Given the description of an element on the screen output the (x, y) to click on. 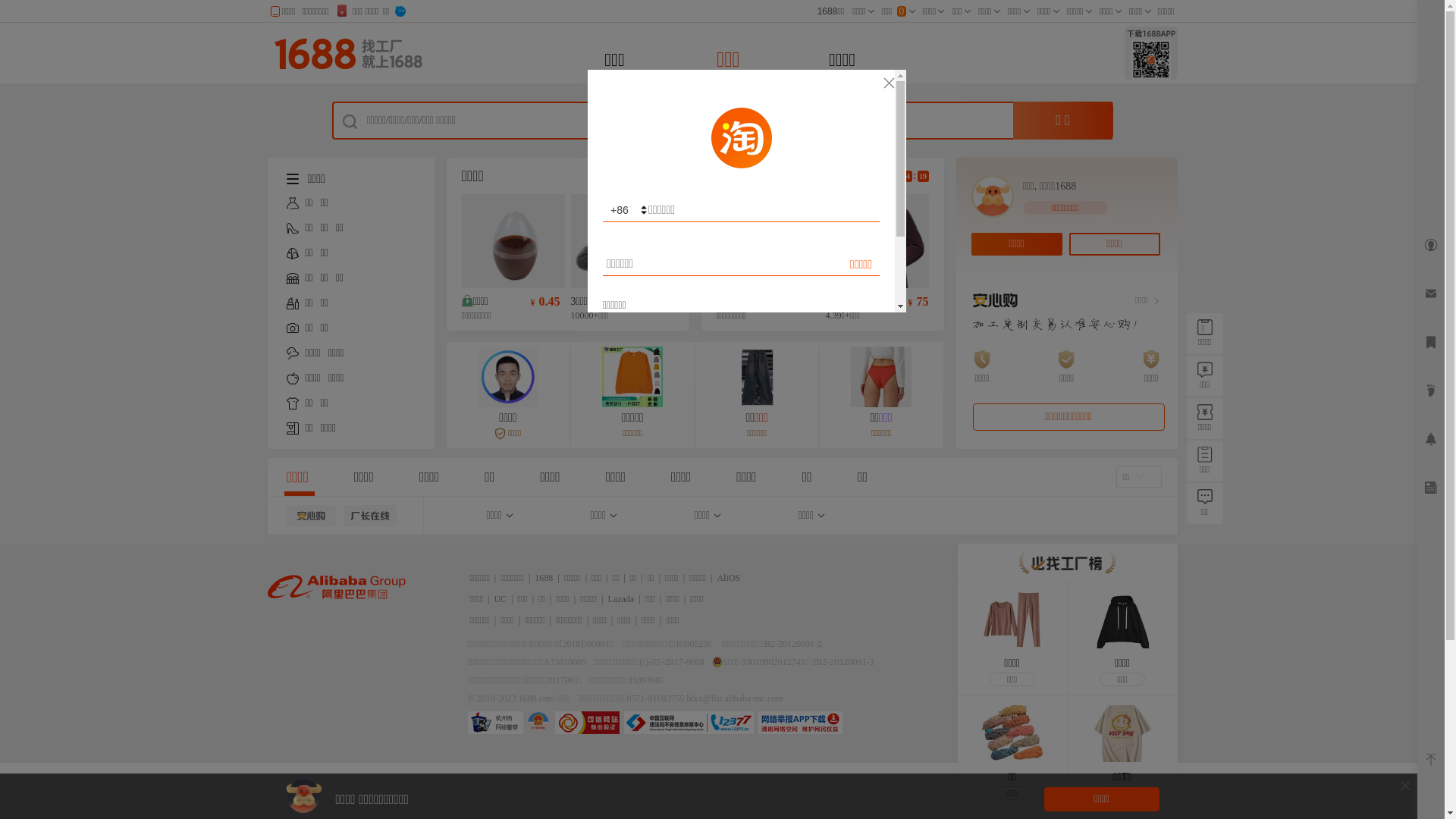
1688 Element type: text (543, 577)
UC Element type: text (499, 598)
AliOS Element type: text (728, 577)
Lazada Element type: text (621, 598)
